Given the description of an element on the screen output the (x, y) to click on. 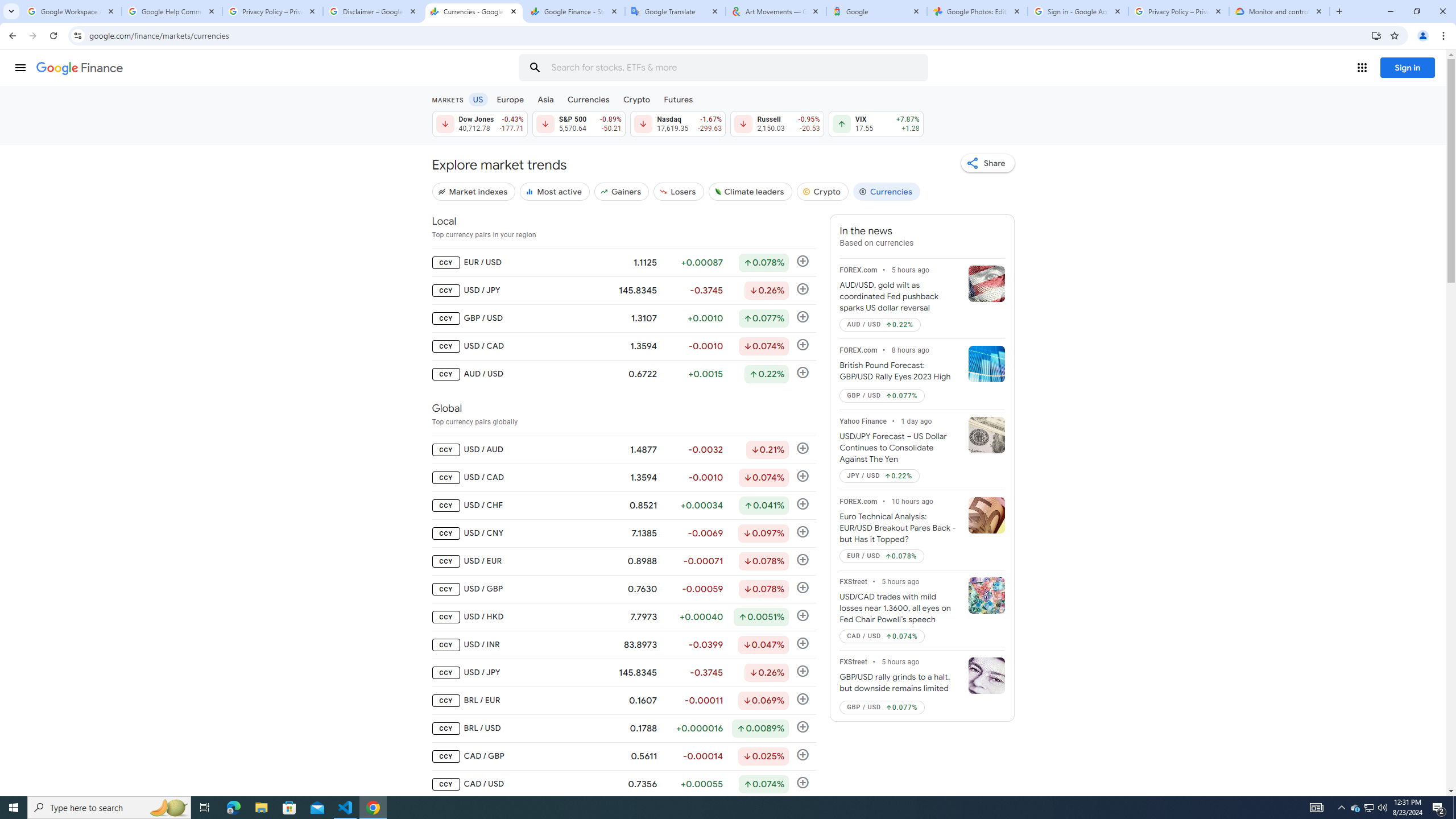
CCY USD / GBP 0.7630 -0.00059 Down by 0.078% Follow (623, 589)
Follow (802, 782)
Currencies (886, 191)
CCY USD / AUD 1.4877 -0.0032 Down by 0.21% Follow (623, 449)
Search for stocks, ETFs & more (724, 67)
CCY AUD / USD 0.6722 +0.0015 Up by 0.22% Follow (623, 374)
